Given the description of an element on the screen output the (x, y) to click on. 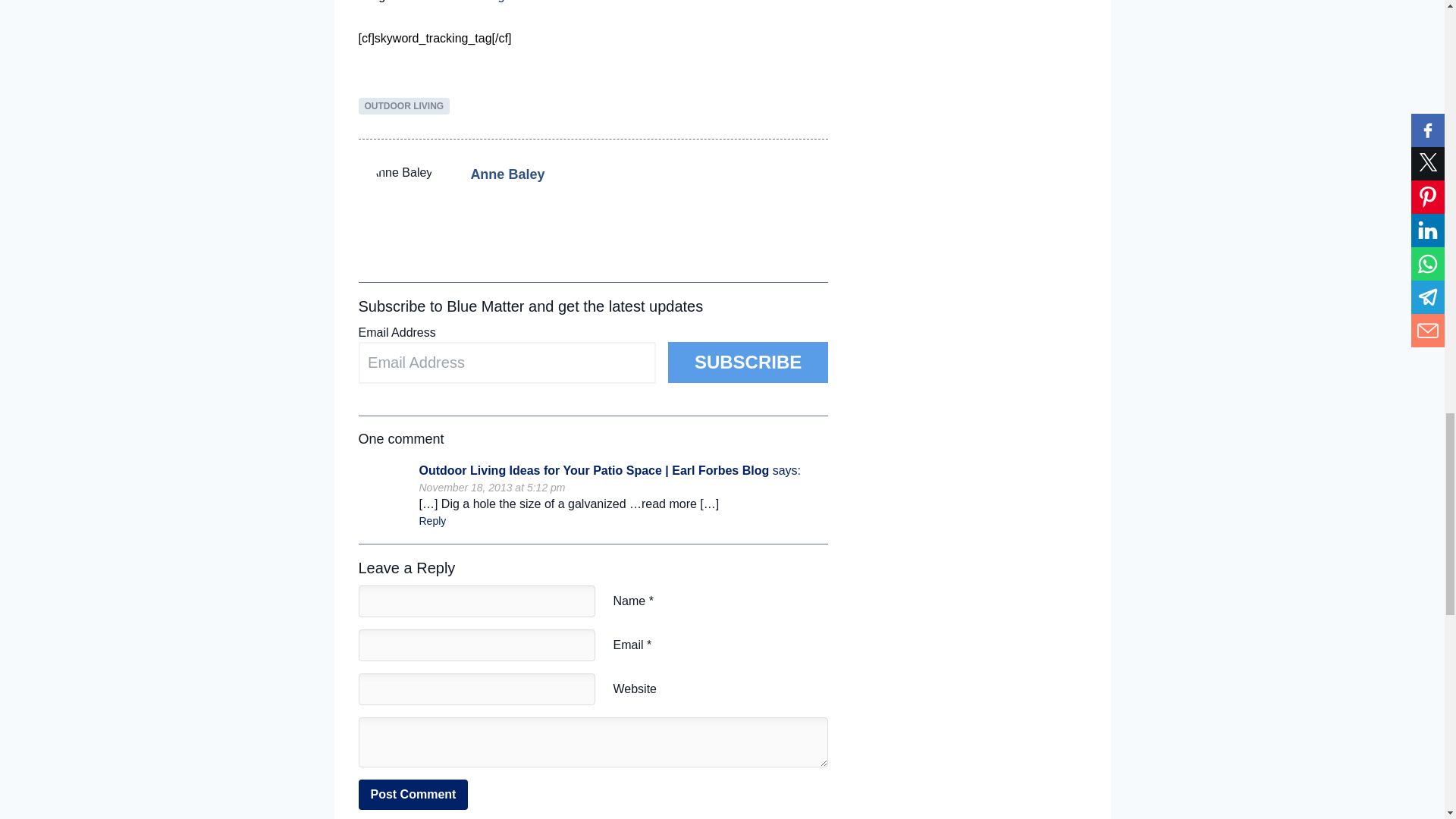
Reply (432, 521)
Post Comment (412, 794)
OUTDOOR LIVING (403, 105)
Post Comment (412, 794)
stock.xchng (472, 1)
SUBSCRIBE (748, 362)
November 18, 2013 at 5:12 pm (491, 487)
Anne Baley (507, 174)
